Given the description of an element on the screen output the (x, y) to click on. 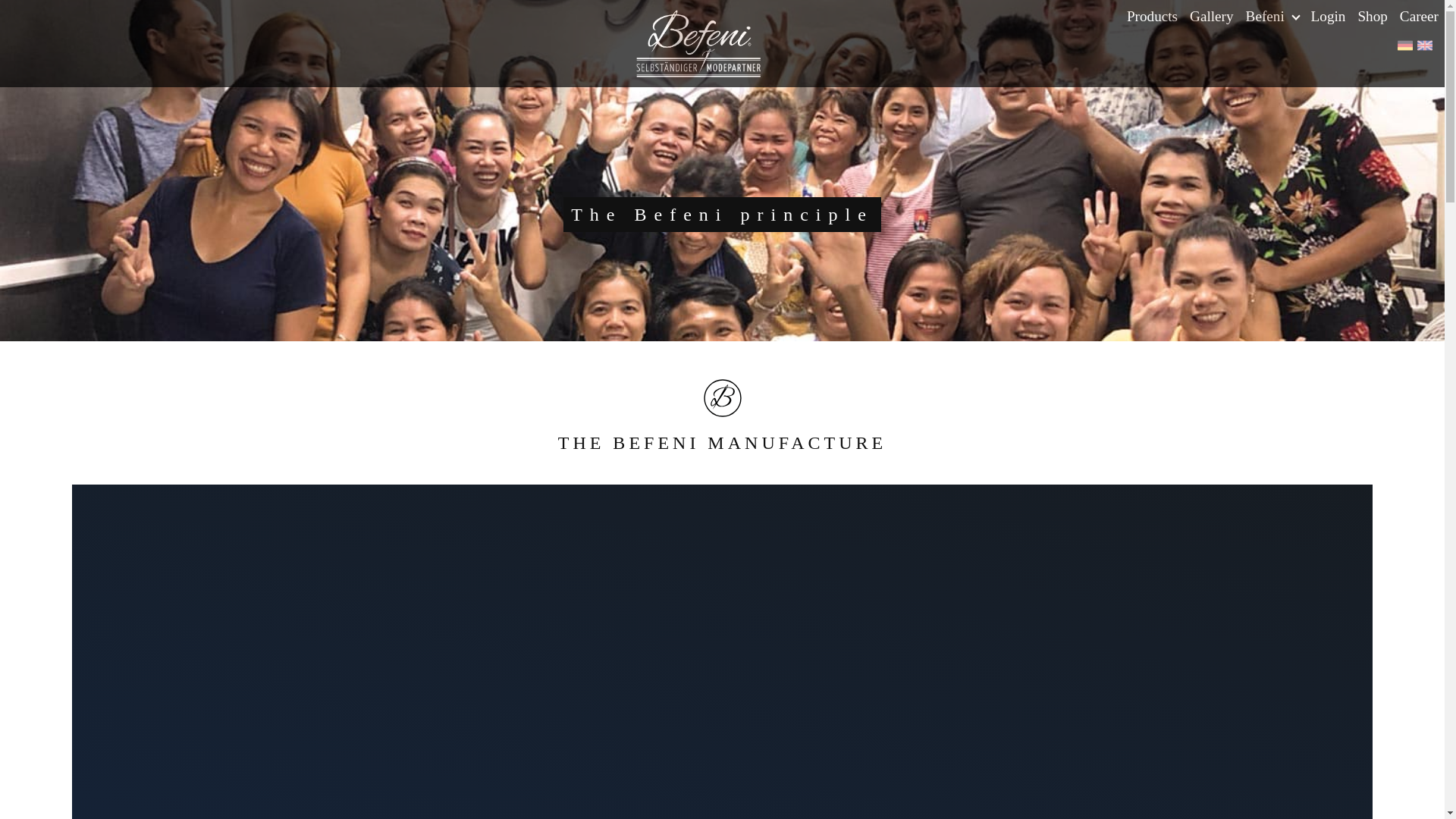
Gallery (1211, 17)
Products (1152, 17)
Login (1328, 17)
Shop (1372, 17)
Befeni (1272, 17)
